Given the description of an element on the screen output the (x, y) to click on. 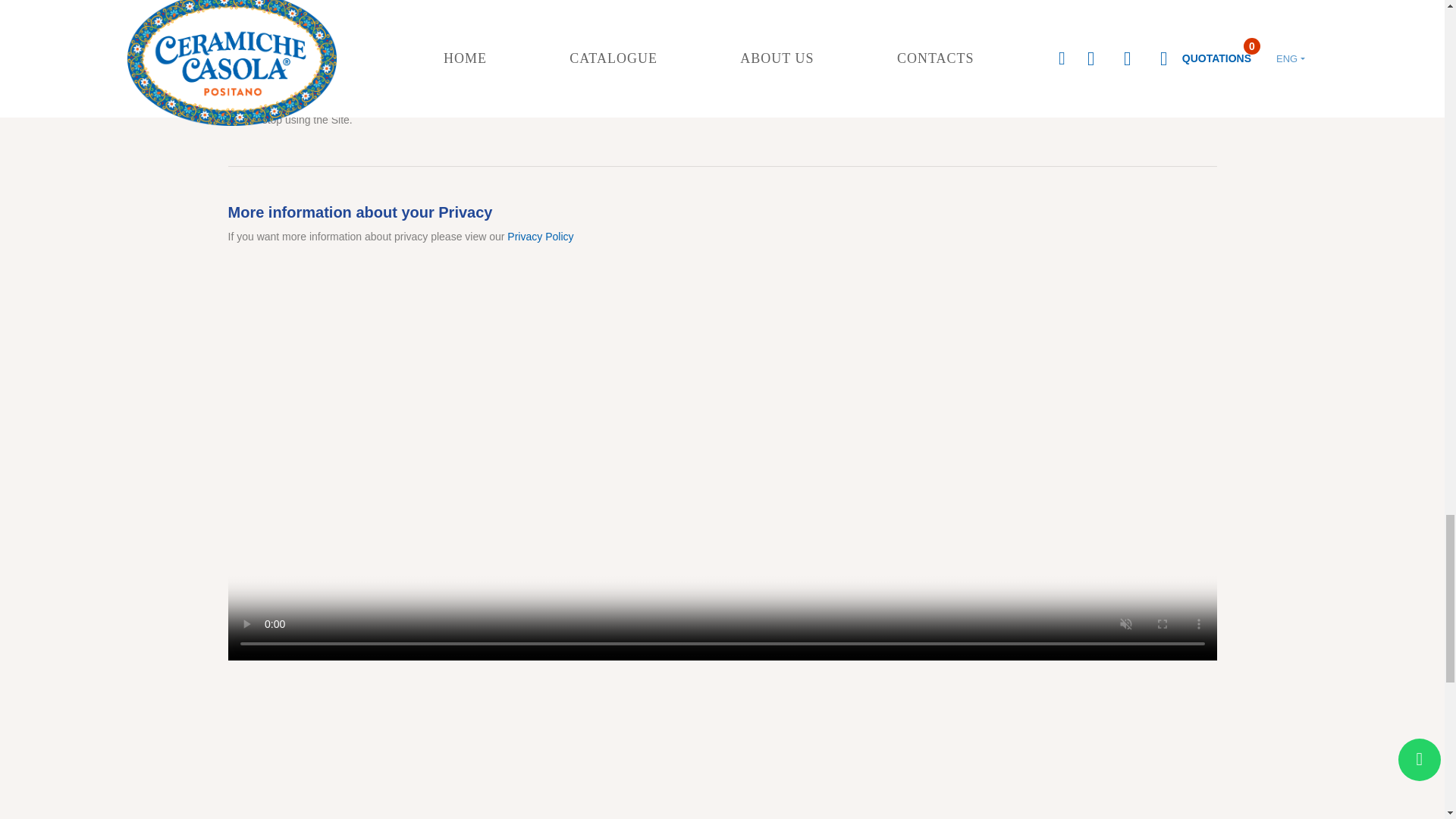
Privacy Policy (539, 236)
